Given the description of an element on the screen output the (x, y) to click on. 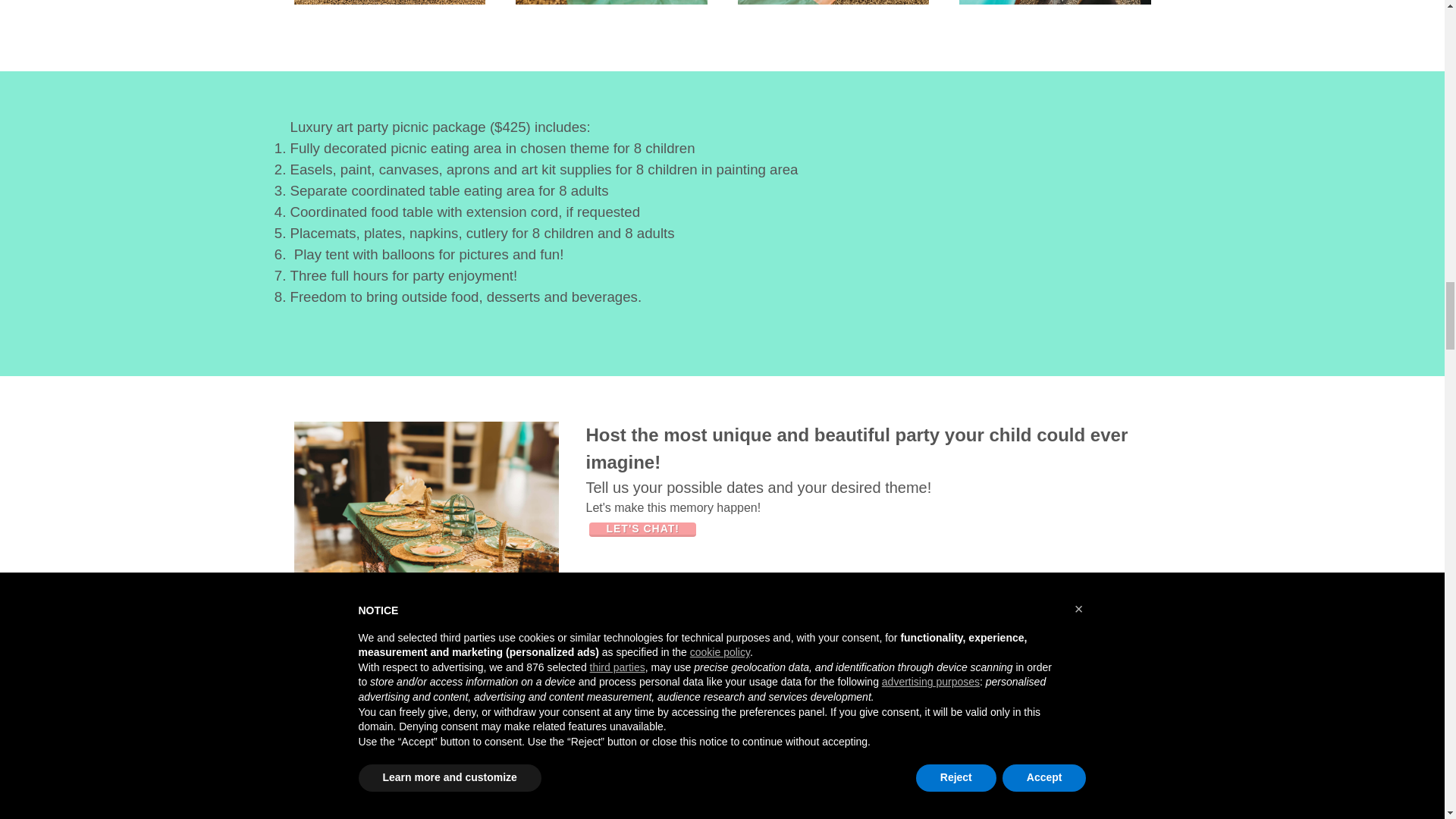
LET'S CHAT! (642, 529)
